Given the description of an element on the screen output the (x, y) to click on. 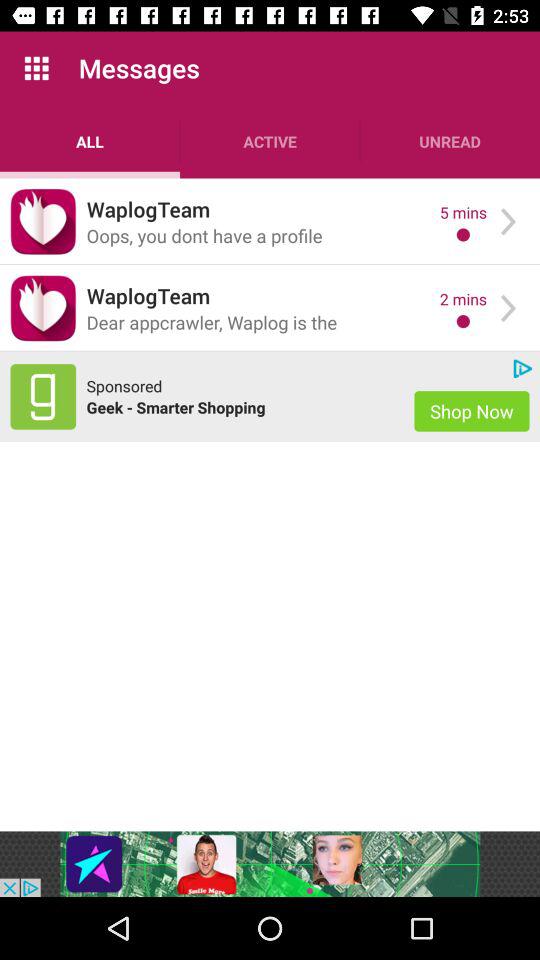
select the button (43, 221)
